Given the description of an element on the screen output the (x, y) to click on. 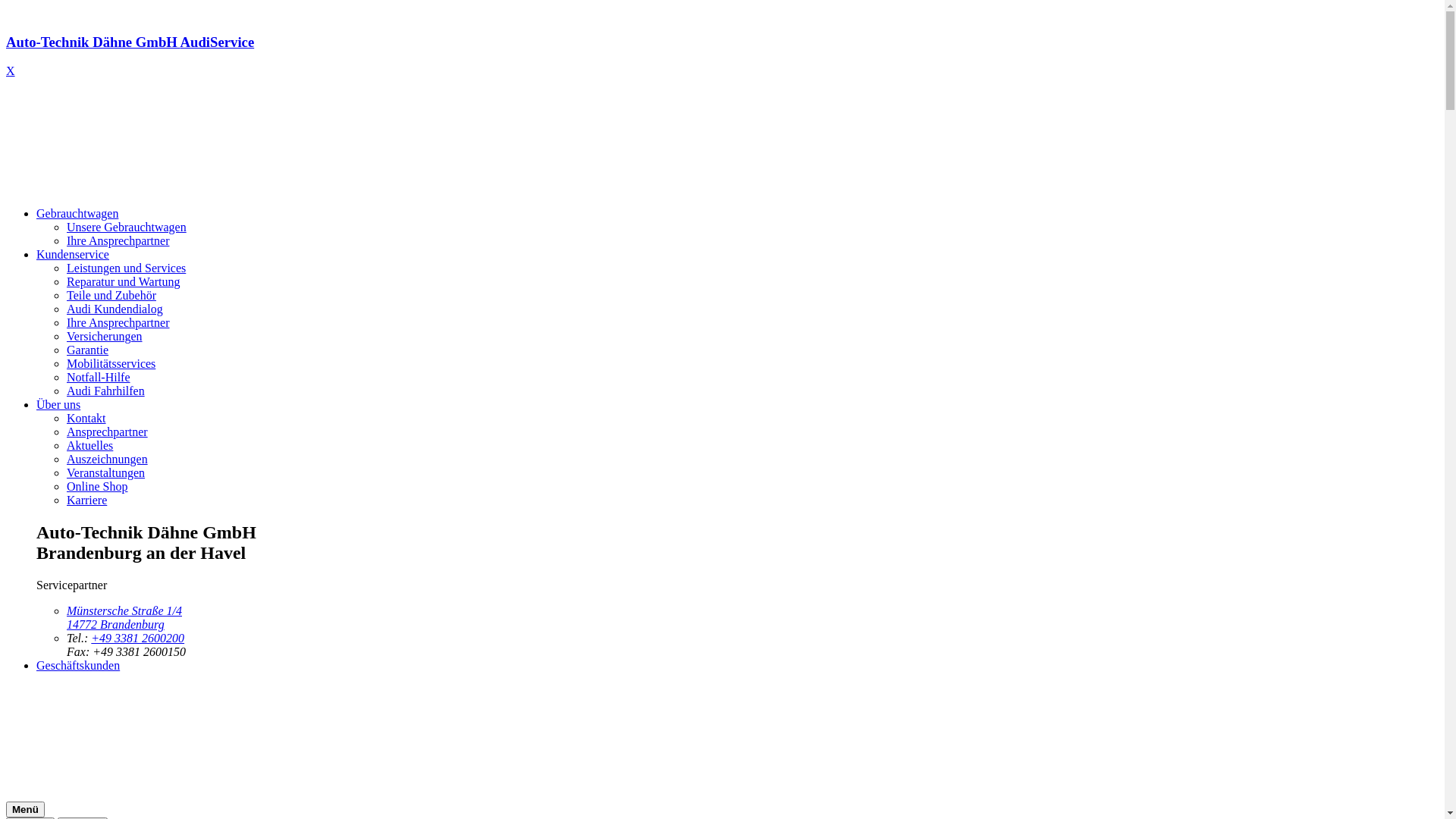
X Element type: text (10, 70)
Audi Kundendialog Element type: text (114, 308)
Aktuelles Element type: text (89, 445)
Veranstaltungen Element type: text (105, 472)
Reparatur und Wartung Element type: text (122, 281)
Versicherungen Element type: text (104, 335)
+49 3381 2600200 Element type: text (137, 637)
Leistungen und Services Element type: text (125, 267)
Gebrauchtwagen Element type: text (77, 213)
Ihre Ansprechpartner Element type: text (117, 240)
Online Shop Element type: text (96, 486)
Notfall-Hilfe Element type: text (98, 376)
Auszeichnungen Element type: text (106, 458)
Karriere Element type: text (86, 499)
Audi Fahrhilfen Element type: text (105, 390)
Unsere Gebrauchtwagen Element type: text (126, 226)
Garantie Element type: text (87, 349)
Kontakt Element type: text (86, 417)
Kundenservice Element type: text (72, 253)
Ansprechpartner Element type: text (106, 431)
Ihre Ansprechpartner Element type: text (117, 322)
